Given the description of an element on the screen output the (x, y) to click on. 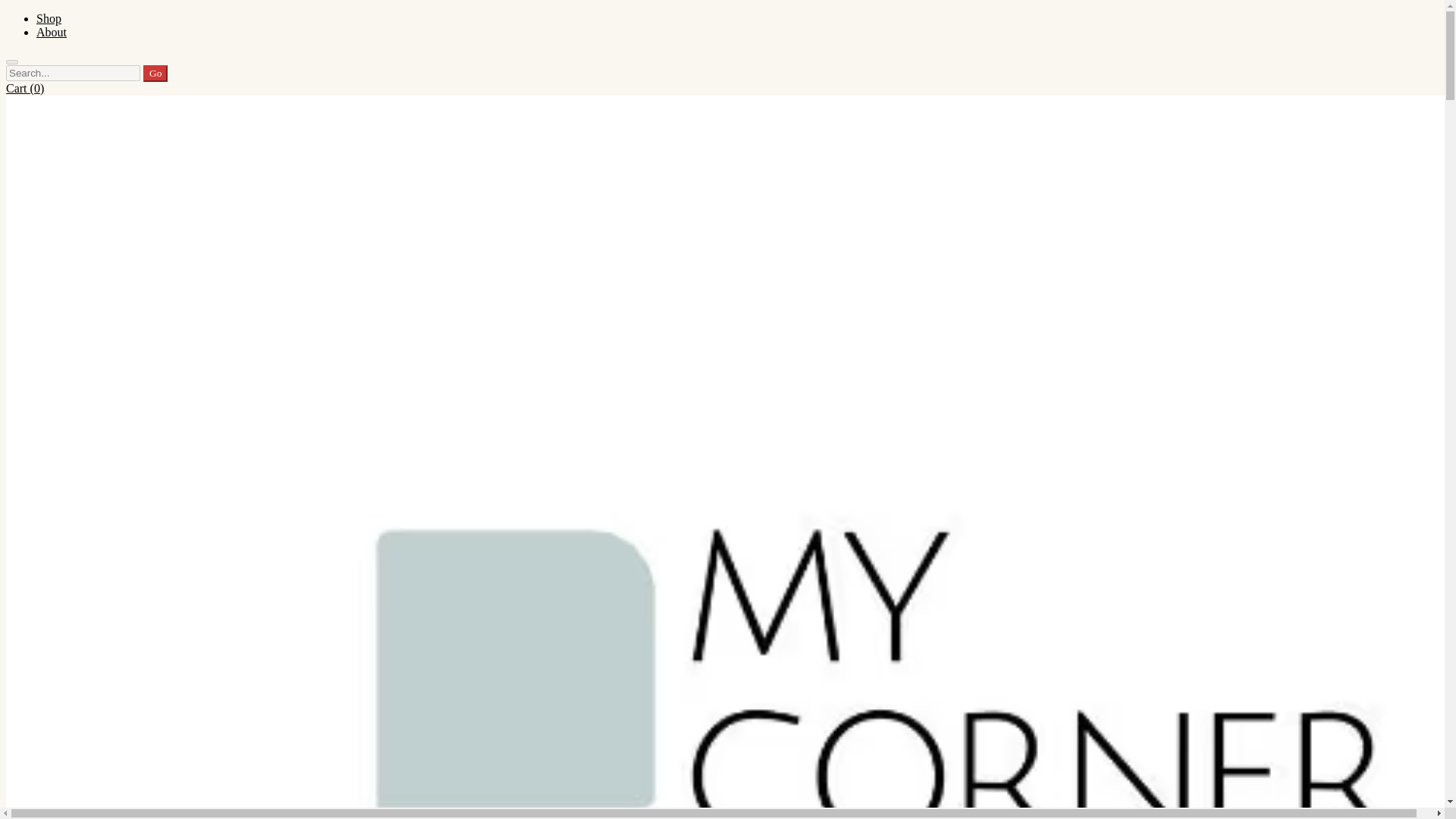
About (51, 31)
Shop (48, 18)
Go (154, 73)
Go (154, 73)
